Given the description of an element on the screen output the (x, y) to click on. 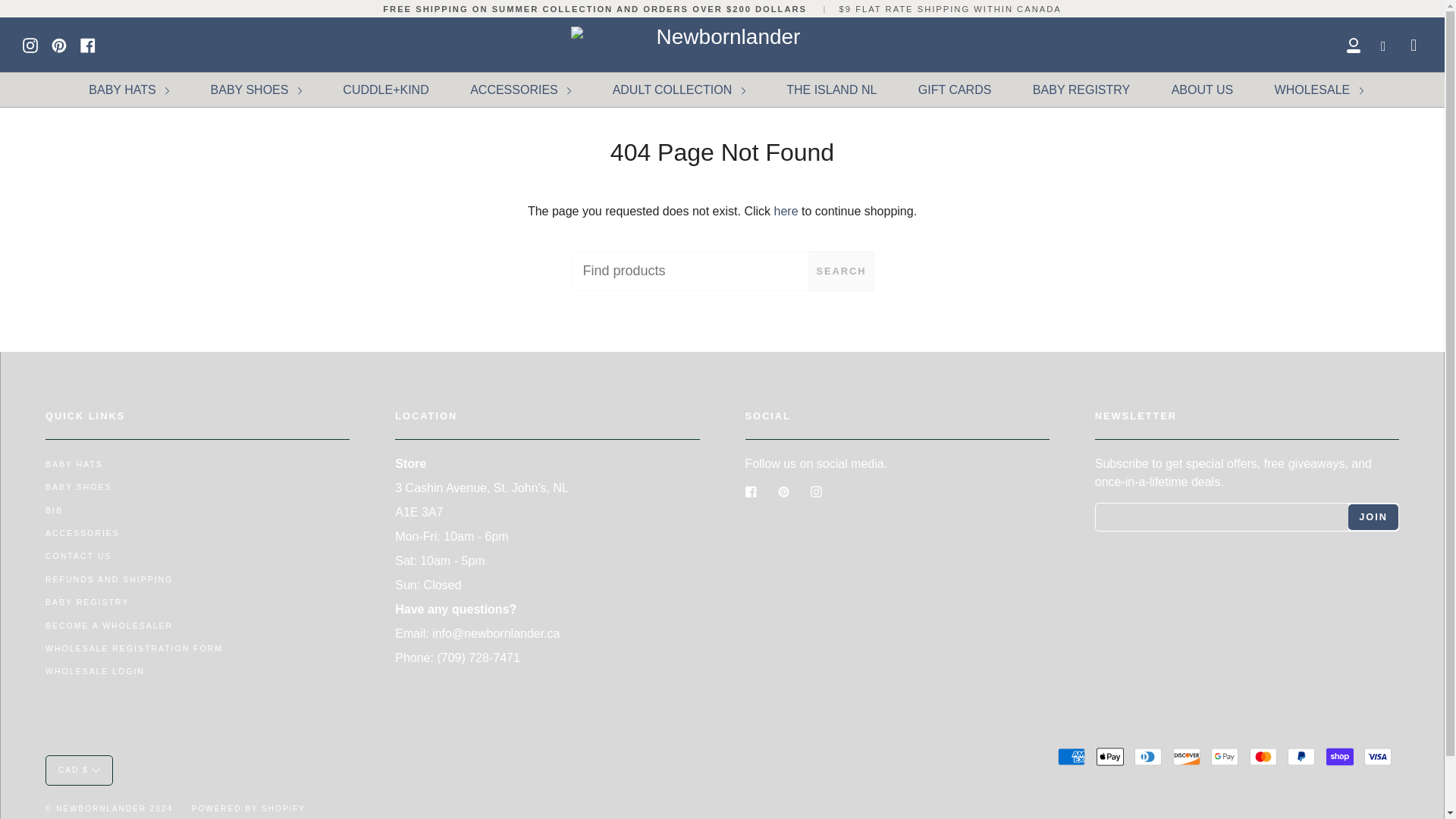
Google Pay (1225, 756)
Diners Club (1147, 756)
Discover (1186, 756)
Newbornlander on Pinterest (58, 44)
BABY HATS (128, 89)
Pinterest (58, 44)
BABY SHOES (255, 89)
American Express (1071, 756)
Facebook (88, 44)
Join (1372, 516)
Mastercard (1262, 756)
Newbornlander on Facebook (88, 44)
PayPal (1300, 756)
Instagram (30, 44)
Newbornlander on Instagram (30, 44)
